Given the description of an element on the screen output the (x, y) to click on. 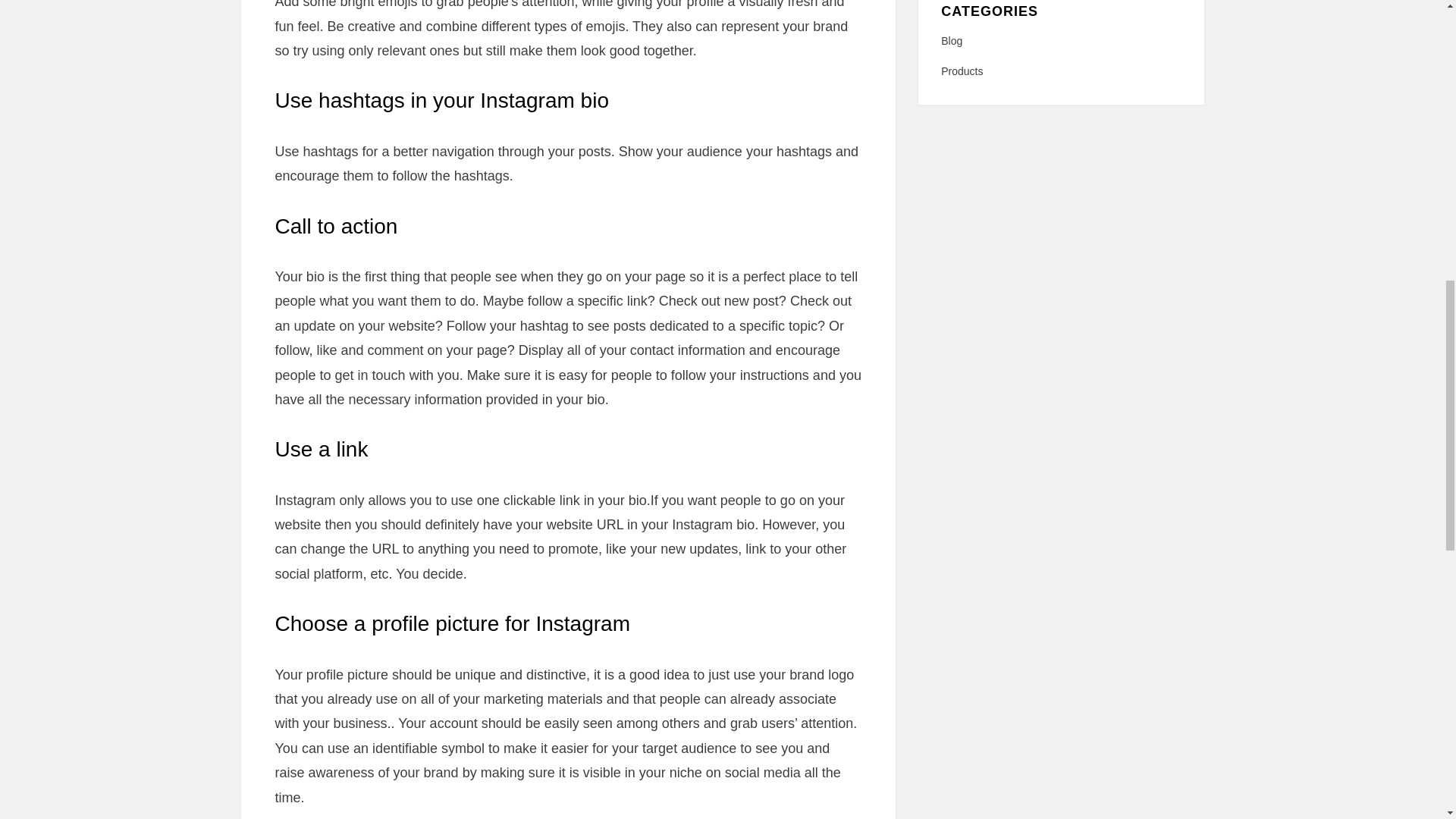
Blog (1060, 40)
Products (1060, 71)
